Given the description of an element on the screen output the (x, y) to click on. 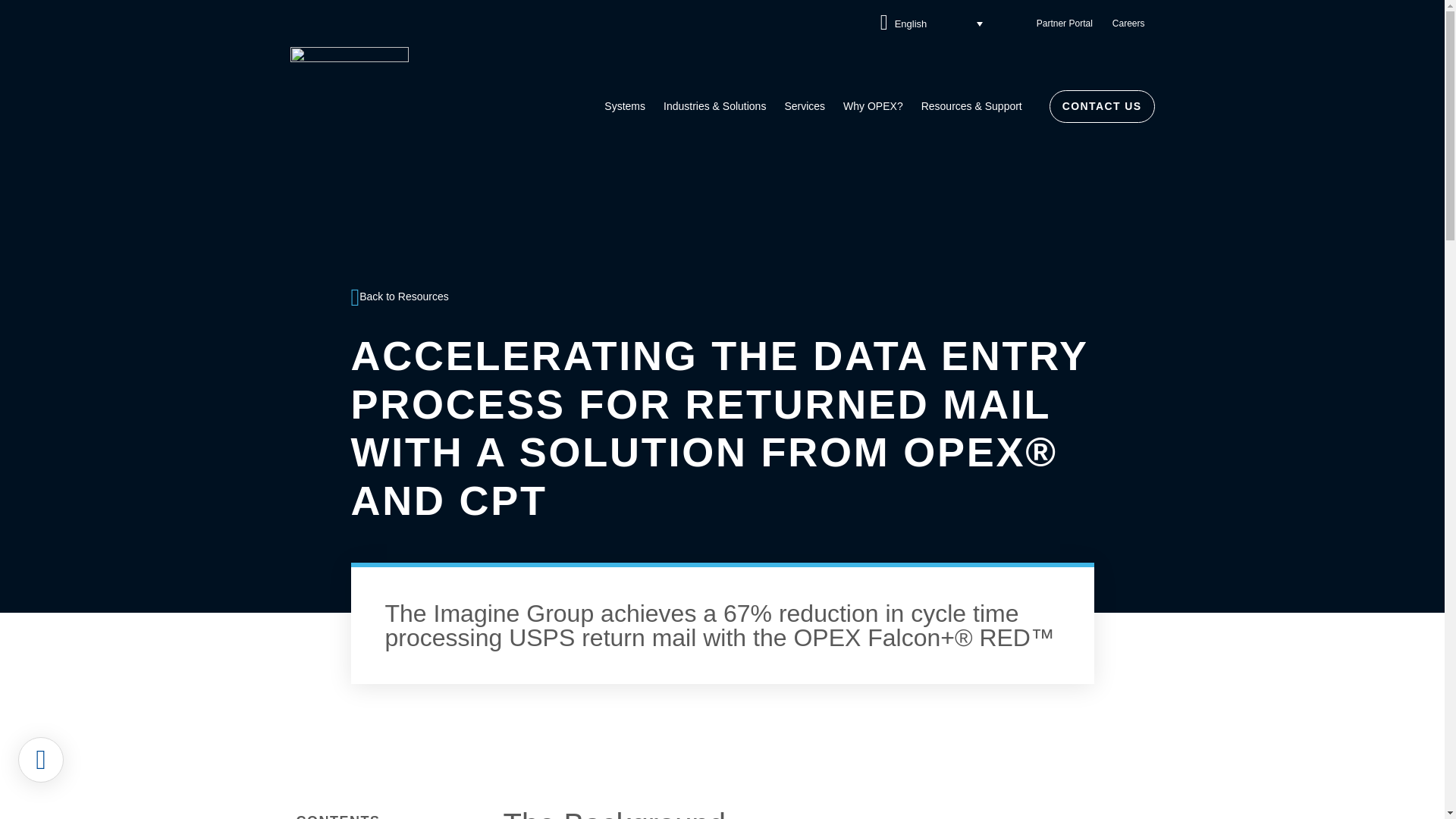
Partner Portal (1064, 23)
Careers (1128, 23)
Systems (624, 105)
English (931, 22)
